Given the description of an element on the screen output the (x, y) to click on. 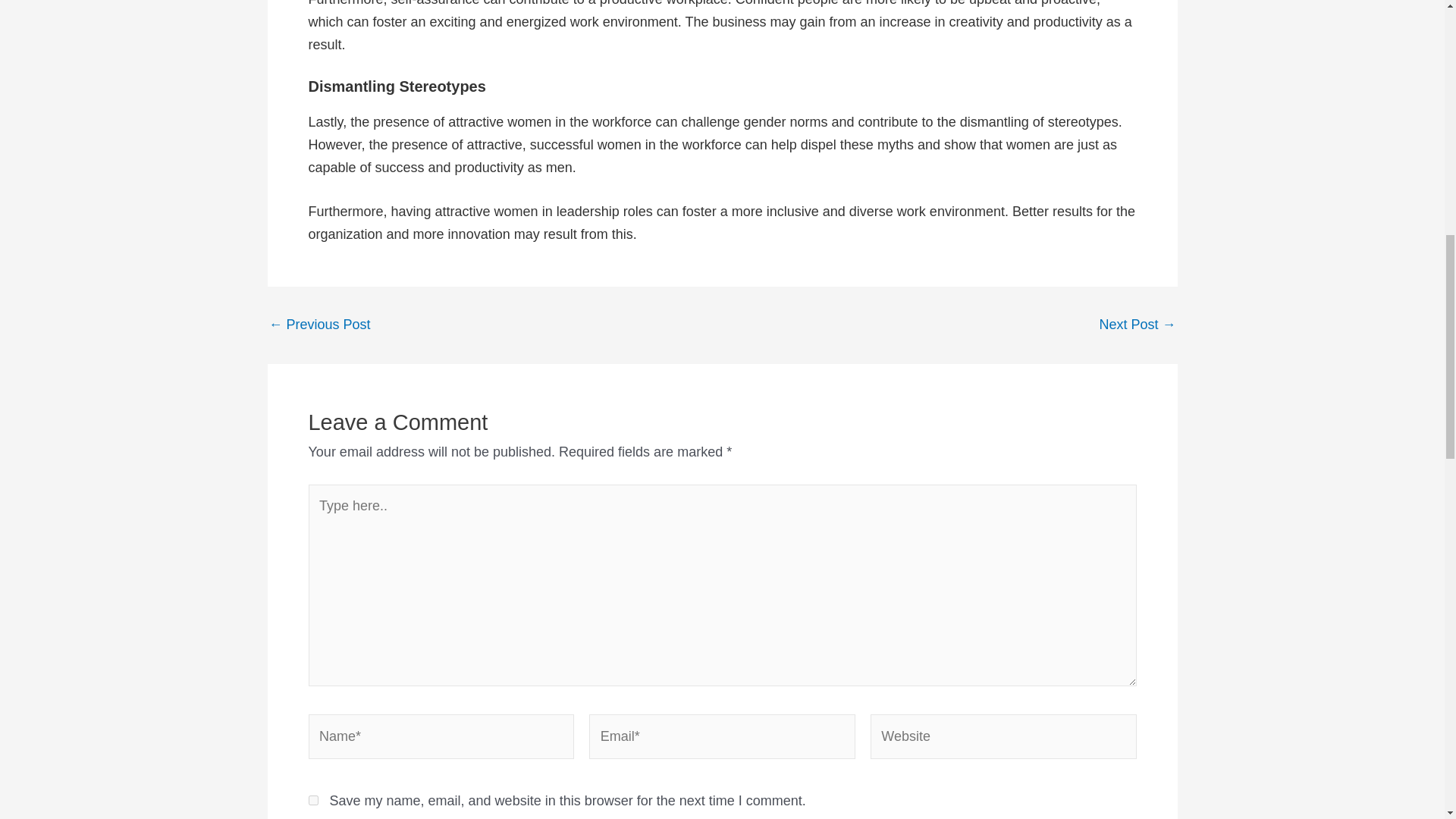
yes (312, 800)
Start Your Career As a Professional PCMC Escorts Call Girls (318, 324)
